Given the description of an element on the screen output the (x, y) to click on. 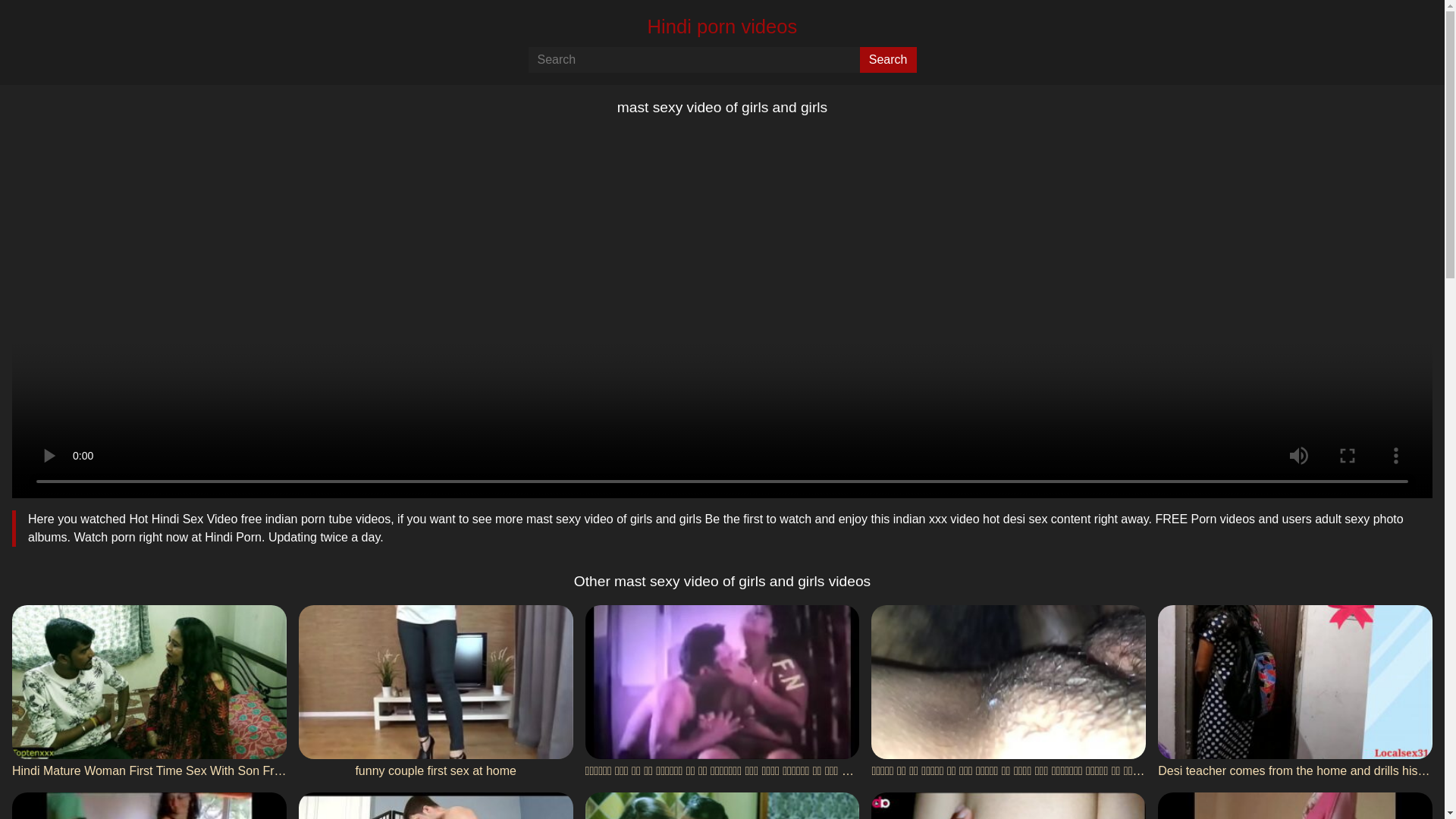
Hindi Mature Woman First Time Sex With Son Friend With Audio (148, 693)
funny couple first sex at home (435, 693)
funny couple first sex at home (435, 693)
Search (888, 59)
Search (888, 59)
Hindi Mature Woman First Time Sex With Son Friend With Audio (148, 693)
Dehati milf puts a glass rod in her hairy pussy (722, 805)
red head teen russian hot babe having hot sex (1294, 805)
Desi sexy woman hardcore anal video making for lover (1007, 805)
